Given the description of an element on the screen output the (x, y) to click on. 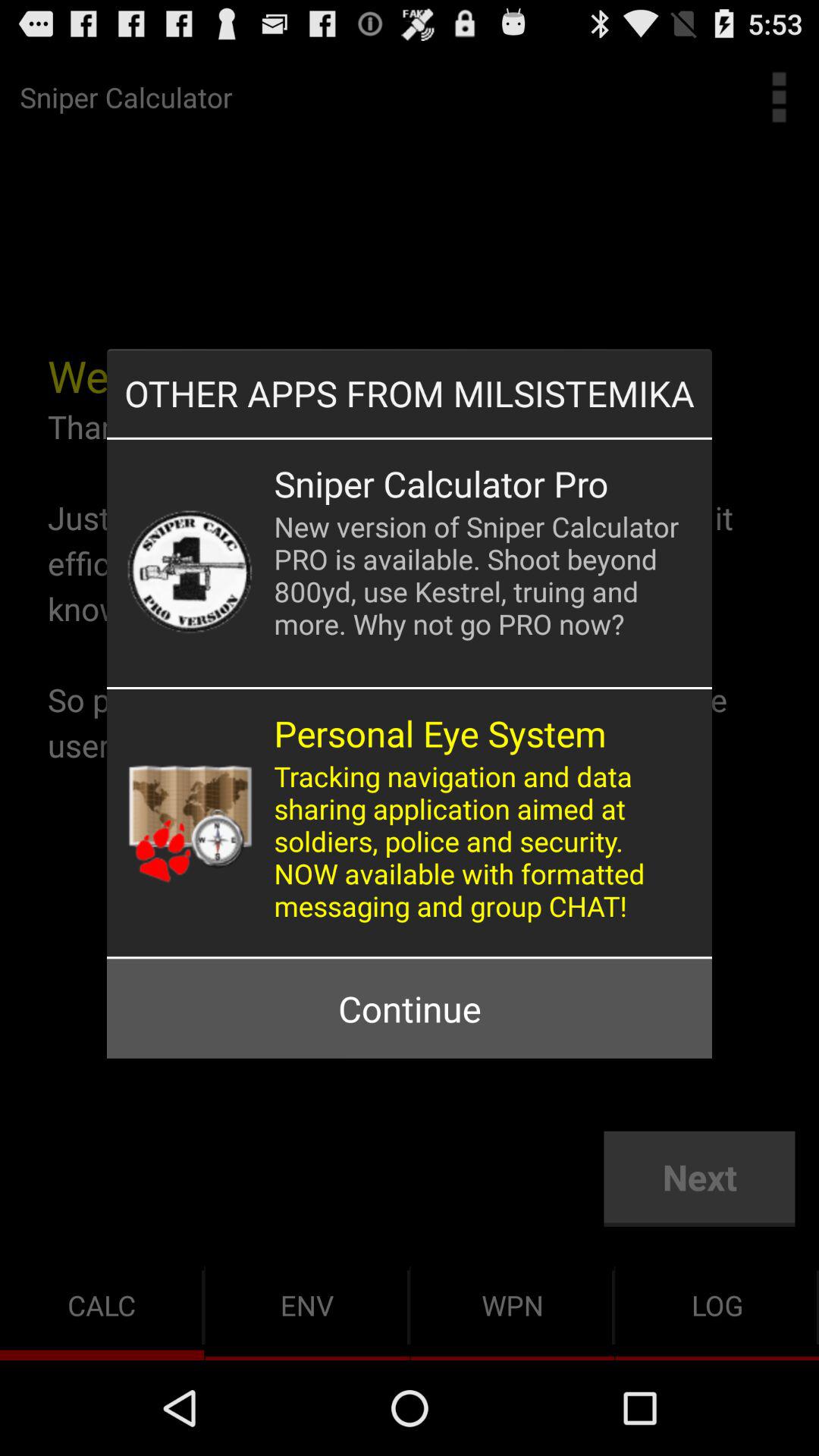
press the continue icon (409, 1008)
